Given the description of an element on the screen output the (x, y) to click on. 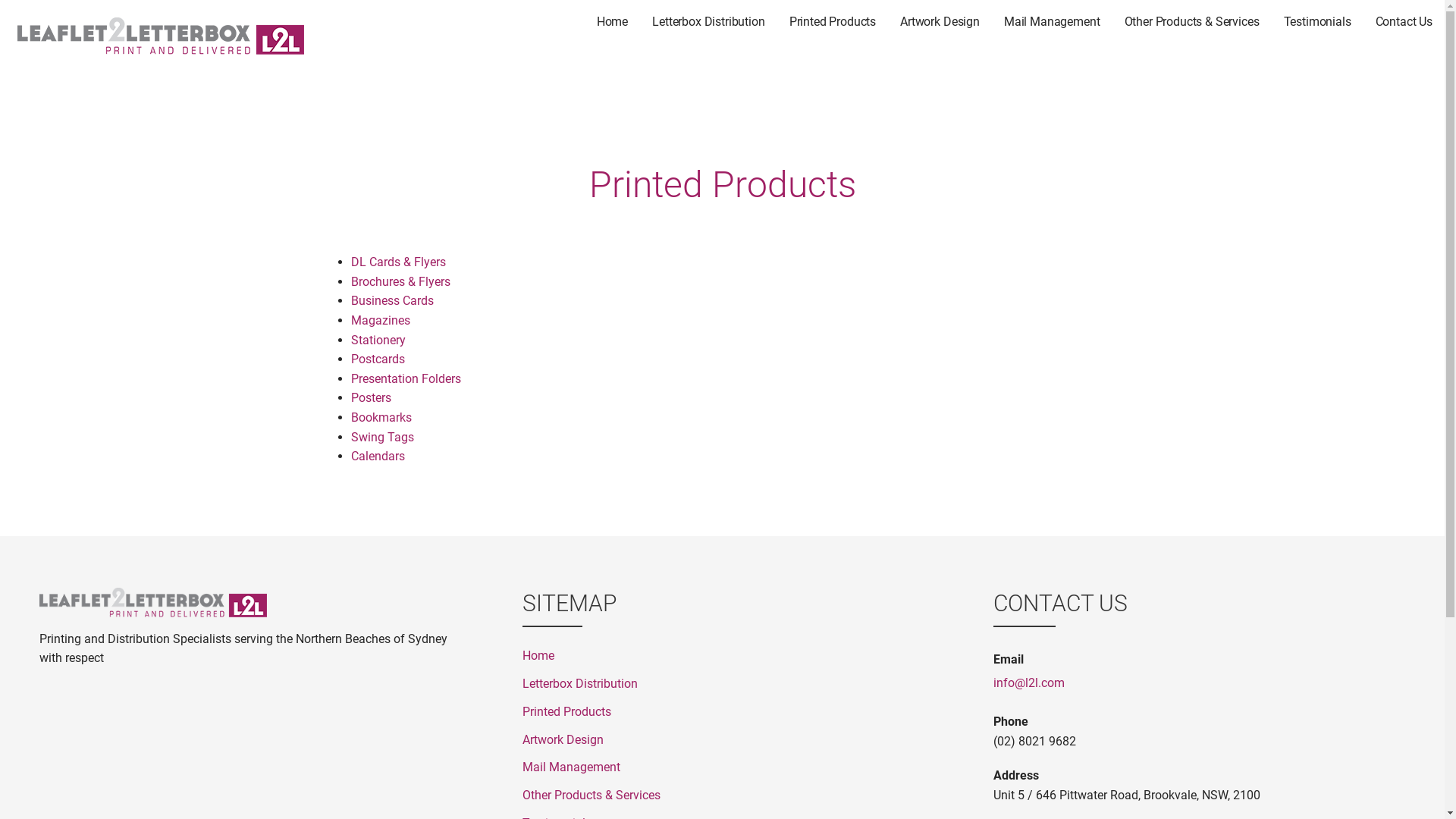
Artwork Design Element type: text (939, 22)
Testimonials Element type: text (1316, 22)
DL Cards & Flyers Element type: text (397, 261)
LEAFLET 2 LETTERBOX Element type: text (104, 67)
Home Element type: text (722, 656)
info@l2l.com Element type: text (1199, 682)
Printed Products Element type: text (722, 711)
Stationery Element type: text (377, 339)
Brochures & Flyers Element type: text (399, 281)
Magazines Element type: text (379, 320)
Bookmarks Element type: text (380, 417)
Postcards Element type: text (377, 358)
Home Element type: text (612, 22)
Mail Management Element type: text (1051, 22)
Other Products & Services Element type: text (1190, 22)
Letterbox Distribution Element type: text (708, 22)
Printed Products Element type: text (832, 22)
Posters Element type: text (370, 397)
Artwork Design Element type: text (722, 739)
Mail Management Element type: text (722, 767)
Letterbox Distribution Element type: text (722, 684)
Swing Tags Element type: text (381, 436)
Presentation Folders Element type: text (405, 378)
Other Products & Services Element type: text (722, 795)
Business Cards Element type: text (391, 300)
Calendars Element type: text (377, 455)
Contact Us Element type: text (1403, 22)
